Given the description of an element on the screen output the (x, y) to click on. 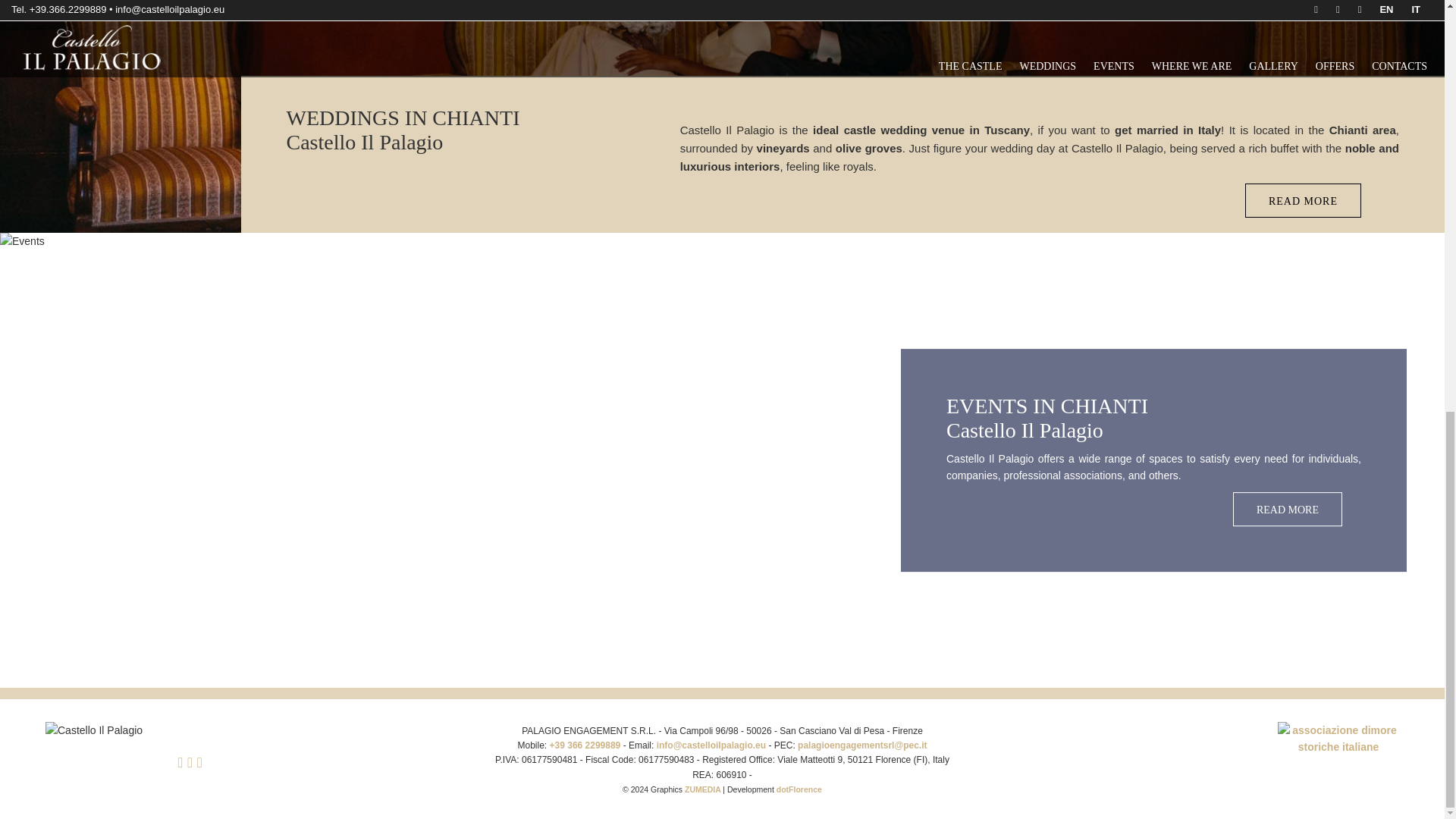
ZUMEDIA (703, 788)
READ MORE (1302, 200)
dotFlorence (799, 788)
READ MORE (1287, 509)
